Given the description of an element on the screen output the (x, y) to click on. 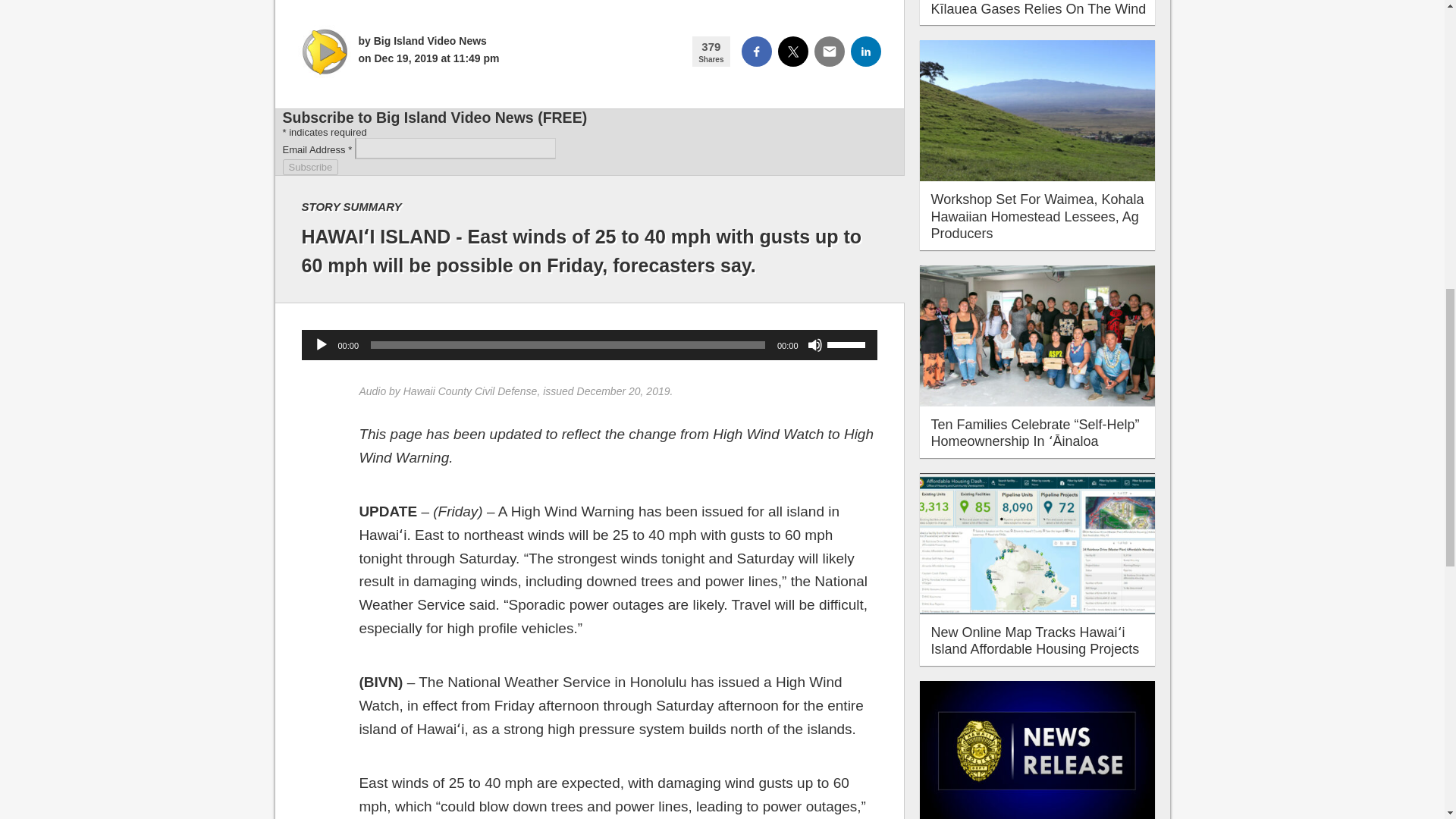
Mute (814, 344)
Play (321, 344)
Subscribe (309, 166)
Subscribe (309, 166)
